Given the description of an element on the screen output the (x, y) to click on. 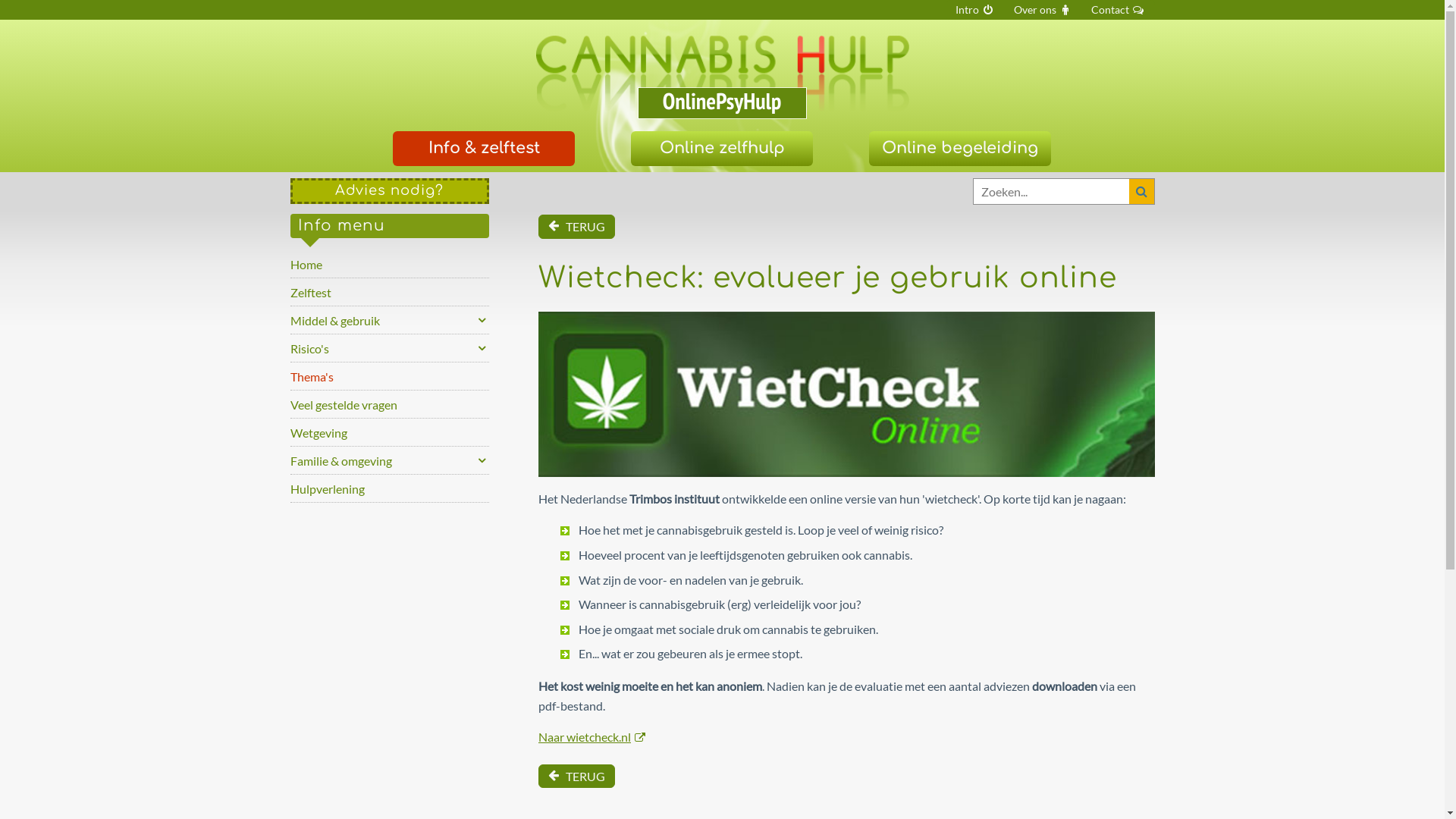
Thema's Element type: text (389, 375)
Online begeleiding Element type: text (960, 148)
Contact Element type: text (1117, 9)
TERUG Element type: text (576, 776)
Familie & omgeving Element type: text (389, 459)
Zelftest Element type: text (389, 291)
Advies nodig? Element type: text (389, 190)
Home Element type: text (389, 263)
Hulpverlening Element type: text (389, 488)
Veel gestelde vragen Element type: text (389, 403)
Risico's Element type: text (389, 347)
Naar wietcheck.nl Element type: text (591, 736)
Intro Element type: text (974, 9)
Wetgeving Element type: text (389, 431)
Middel & gebruik Element type: text (389, 319)
Info & zelftest Element type: text (483, 148)
Over ons Element type: text (1043, 9)
TERUG Element type: text (576, 226)
Online zelfhulp Element type: text (721, 148)
